Given the description of an element on the screen output the (x, y) to click on. 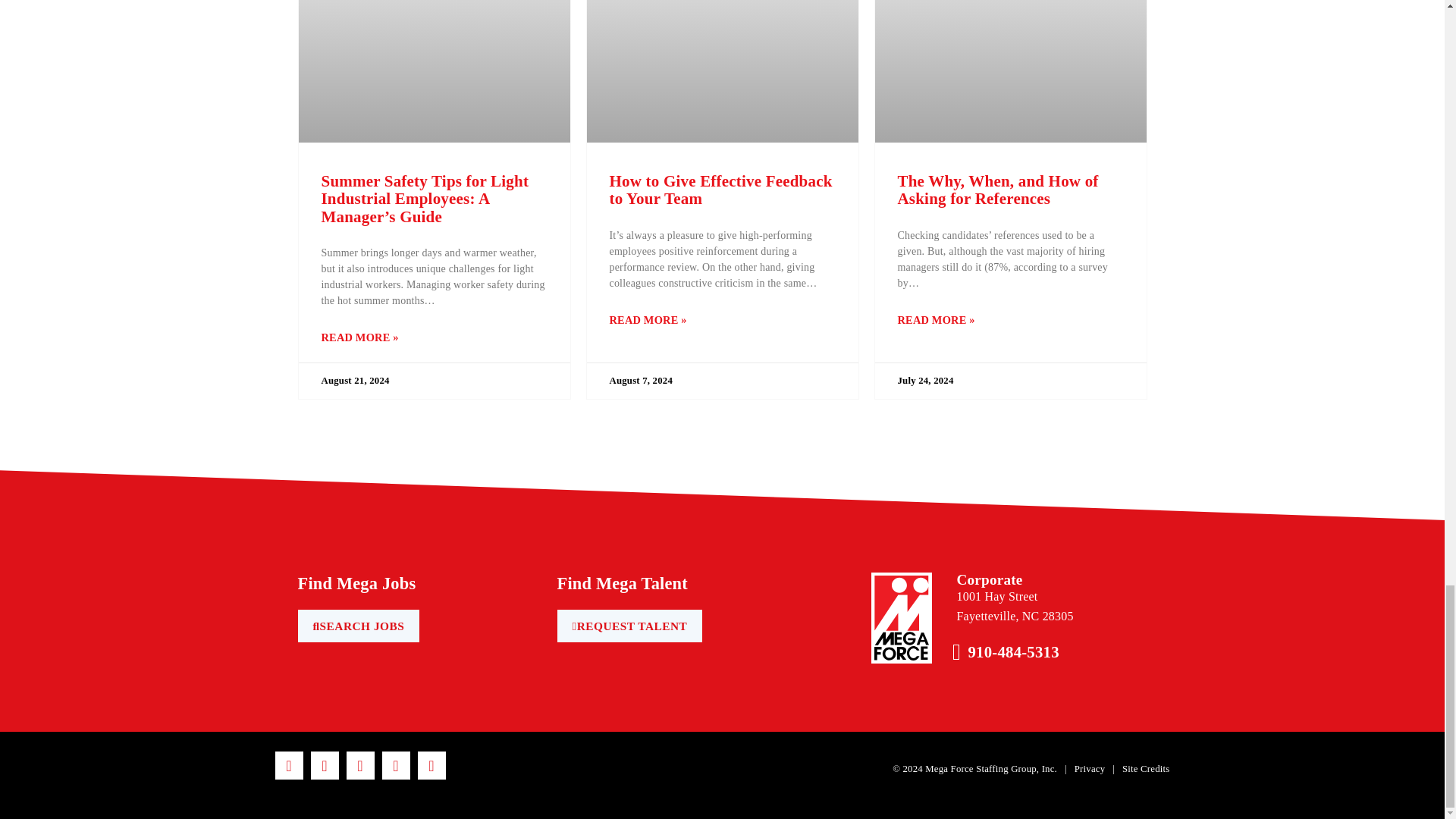
910-484-5313 (1013, 651)
How to Give Effective Feedback to Your Team (721, 189)
SEARCH JOBS (358, 625)
Follow Mega Force on Twitter (325, 765)
Follow Mega Force on Facebook (288, 765)
The Why, When, and How of Asking for References (998, 189)
Our Blog (430, 765)
Follow Mega Force on Instagram (395, 765)
REQUEST TALENT (628, 625)
Connect with Mega Force on LinkedIn (360, 765)
